Given the description of an element on the screen output the (x, y) to click on. 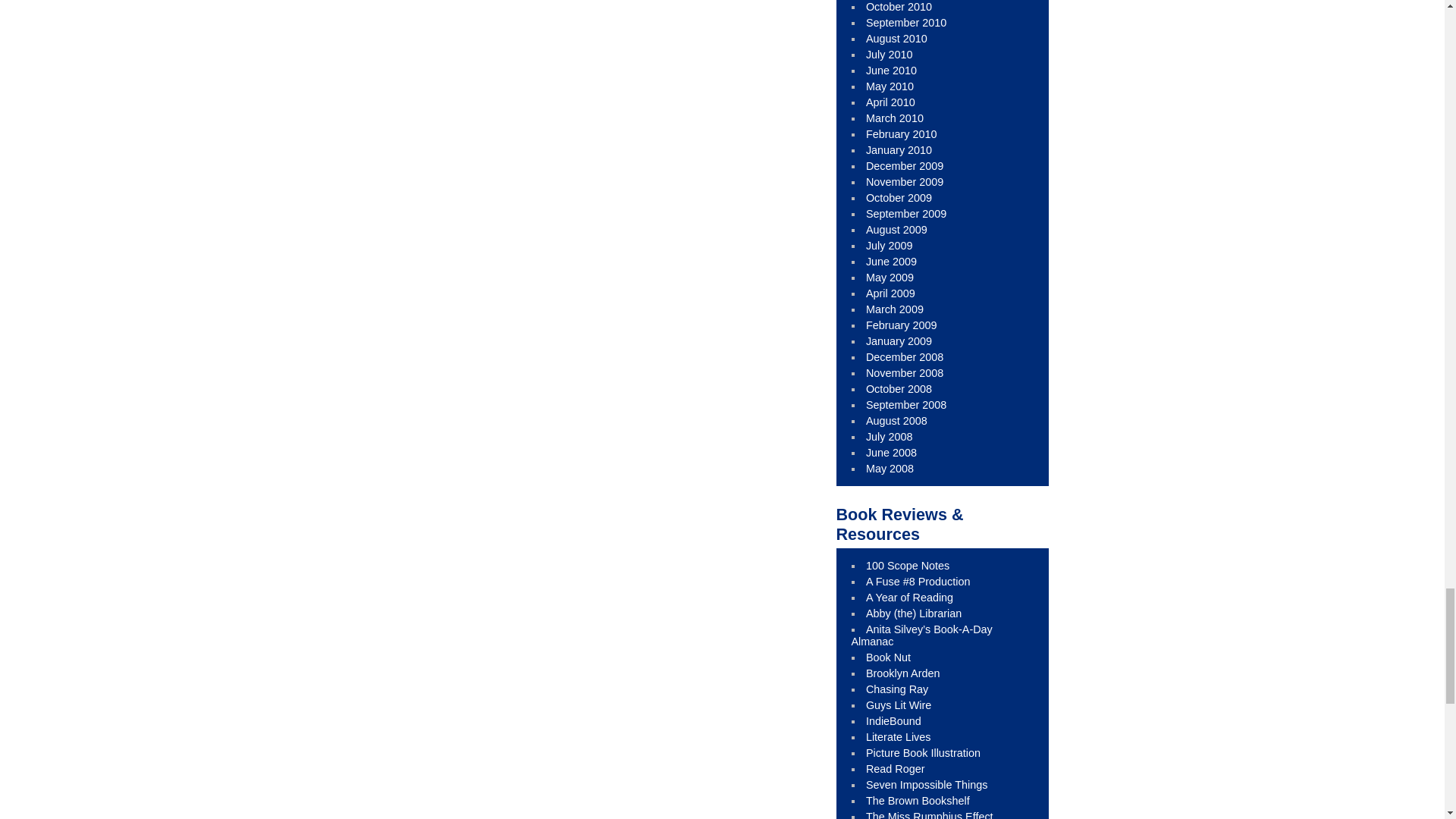
Blog by a Lively, Outspoken, Entertaining NYC Librarian (918, 581)
Two Teacher Who Read. A Lot. (909, 597)
Quick. Lively. Beautiful. Artistic. Fun. (922, 752)
Book News and Recommendations (893, 720)
Cheryl Klein: Reader, Editor (903, 673)
Books, etc. (897, 689)
